Given the description of an element on the screen output the (x, y) to click on. 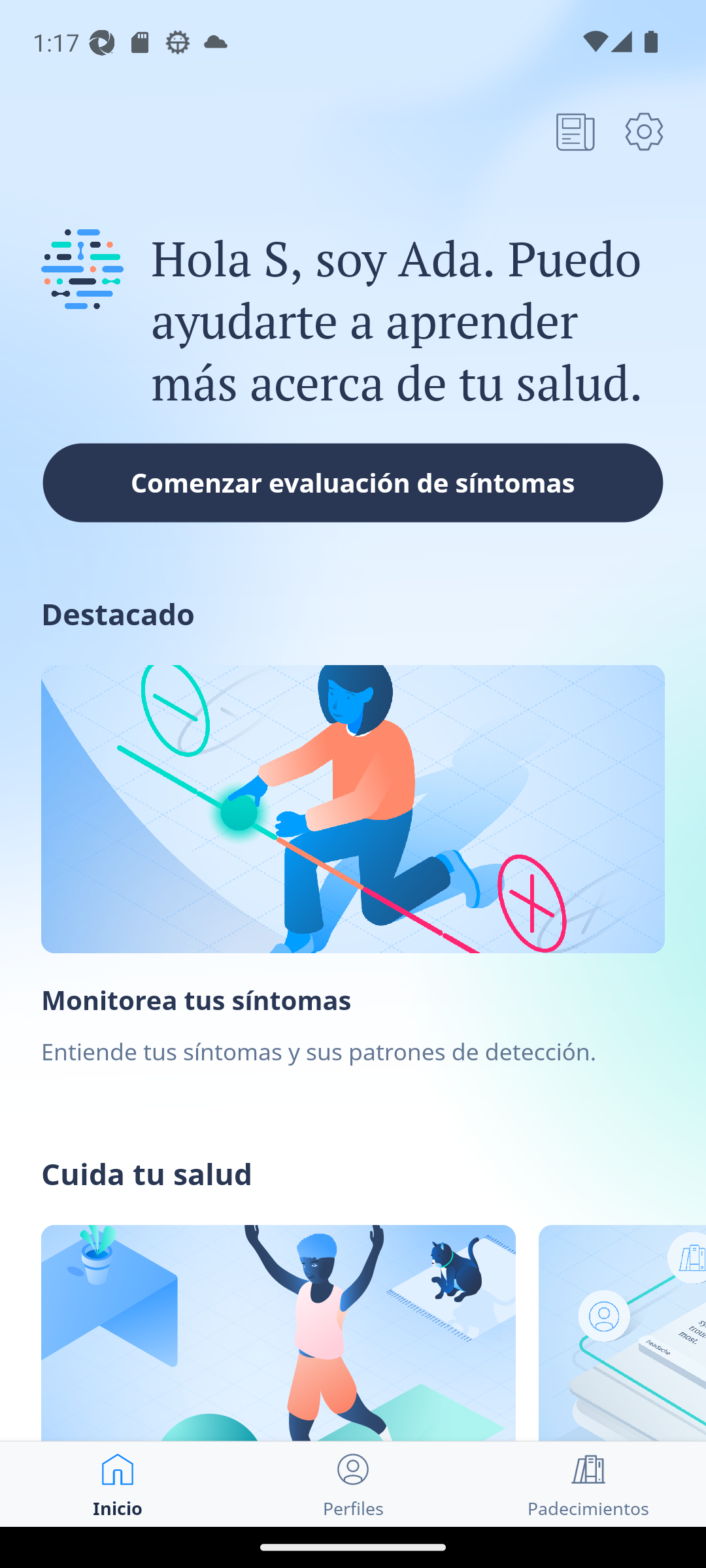
article icon , open articles (574, 131)
settings icon, open settings (644, 131)
Comenzar evaluación de síntomas (352, 482)
Inicio (117, 1484)
Perfiles (352, 1484)
Padecimientos (588, 1484)
